Given the description of an element on the screen output the (x, y) to click on. 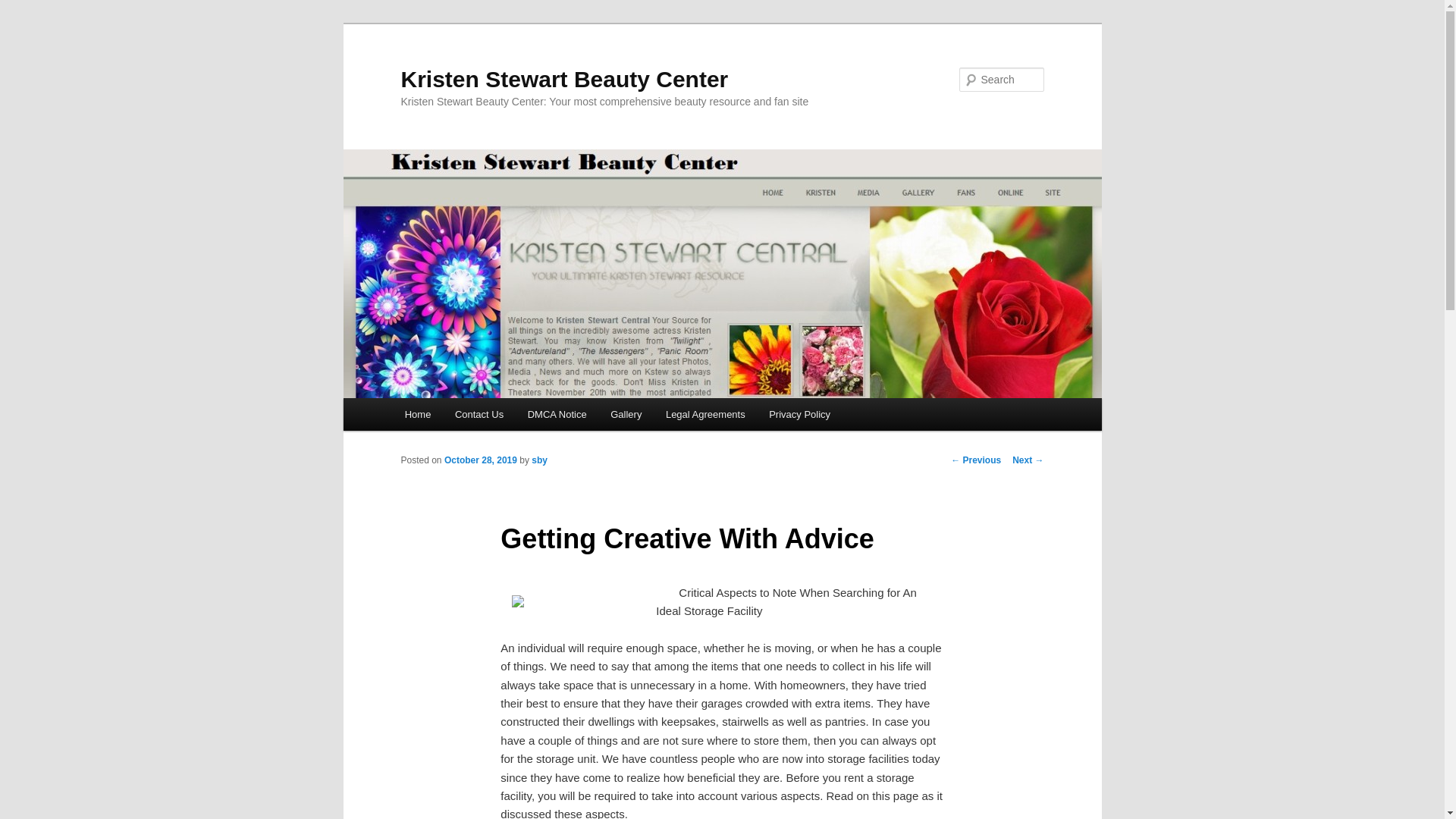
October 28, 2019 (480, 460)
sby (539, 460)
Skip to primary content (472, 416)
View all posts by sby (539, 460)
Home (417, 414)
DMCA Notice (556, 414)
11:31 am (480, 460)
Search (24, 8)
Kristen Stewart Beauty Center (564, 78)
Contact Us (478, 414)
Privacy Policy (799, 414)
Legal Agreements (705, 414)
Gallery (625, 414)
